Given the description of an element on the screen output the (x, y) to click on. 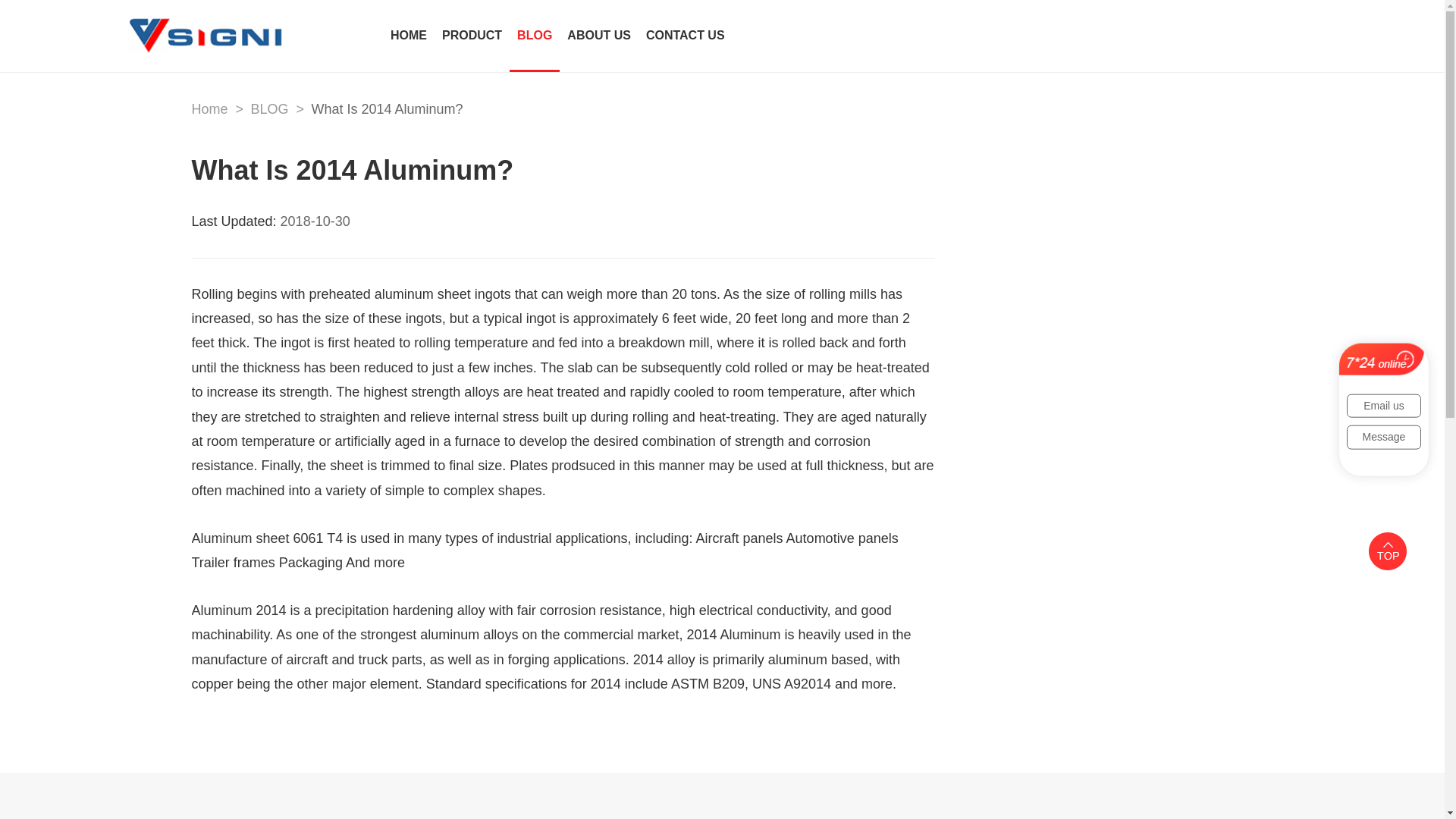
Email us (1383, 405)
ABOUT US (599, 36)
Home (208, 109)
CONTACT US (685, 36)
PRODUCT (471, 36)
Message (1383, 436)
BLOG (269, 109)
